Given the description of an element on the screen output the (x, y) to click on. 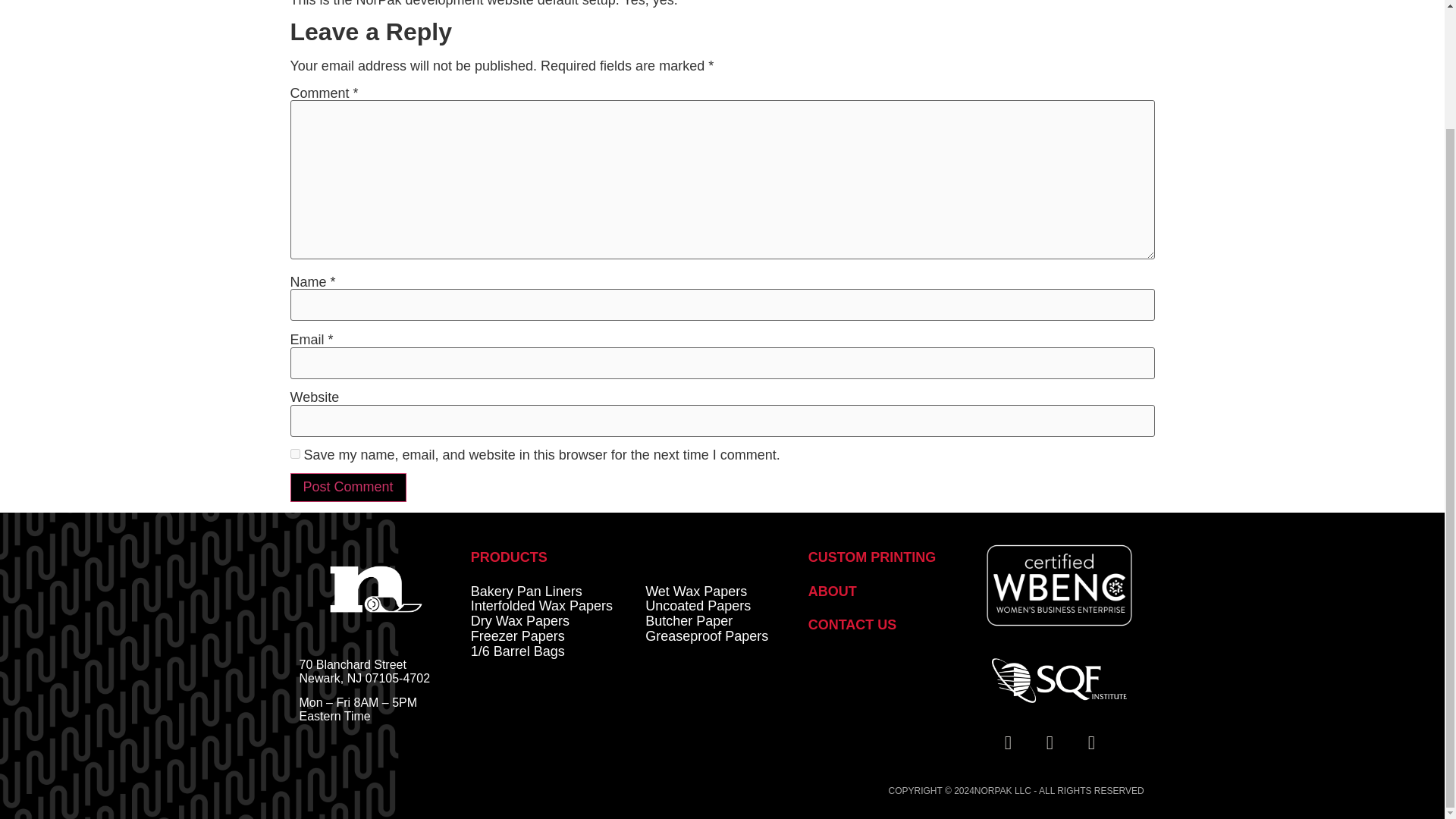
PRODUCTS (508, 557)
Post Comment (347, 487)
Bakery Pan Liners (526, 590)
Interfolded Wax Papers (541, 605)
yes (294, 453)
Post Comment (347, 487)
